Given the description of an element on the screen output the (x, y) to click on. 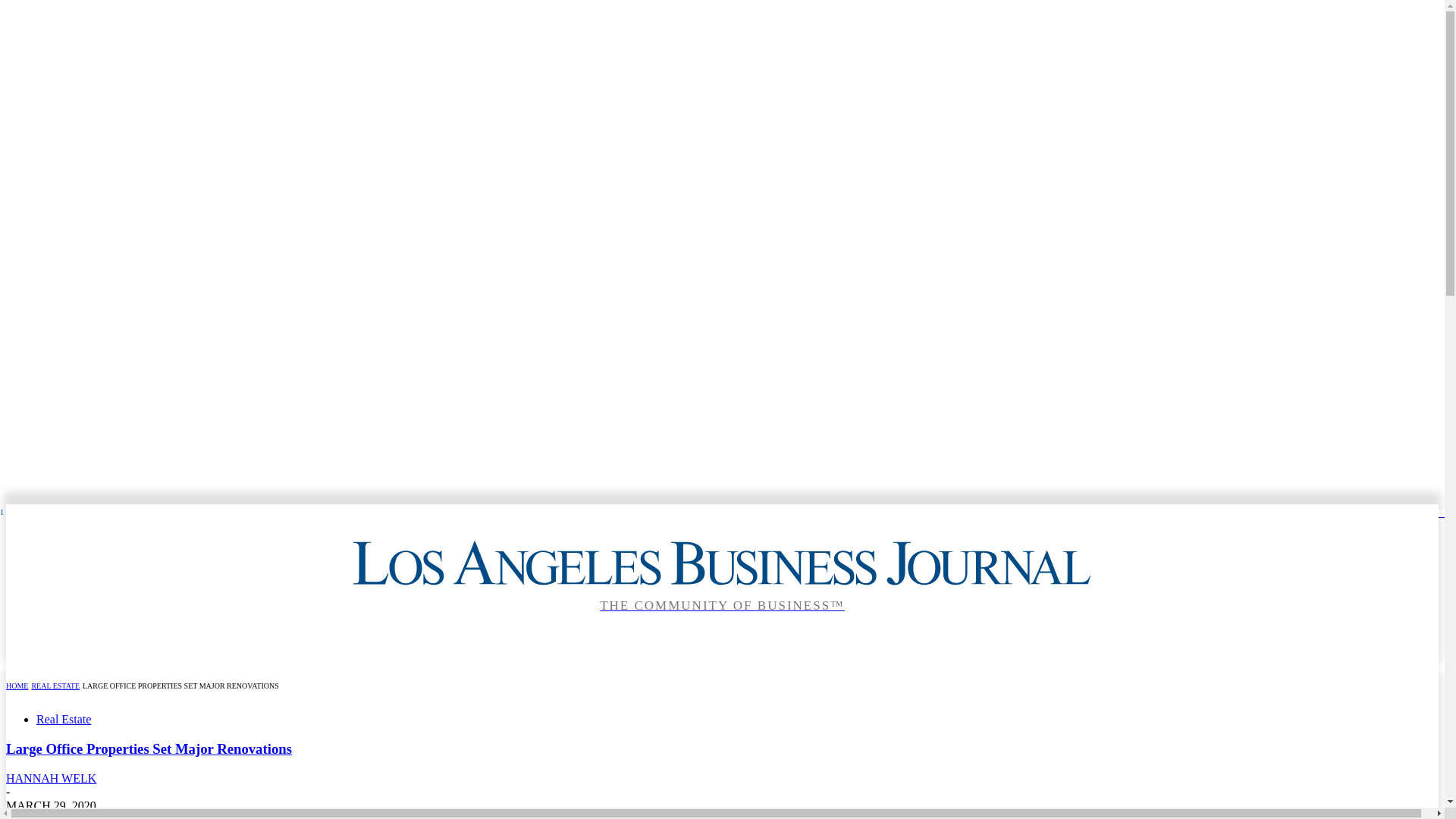
Log out (1345, 512)
